Given the description of an element on the screen output the (x, y) to click on. 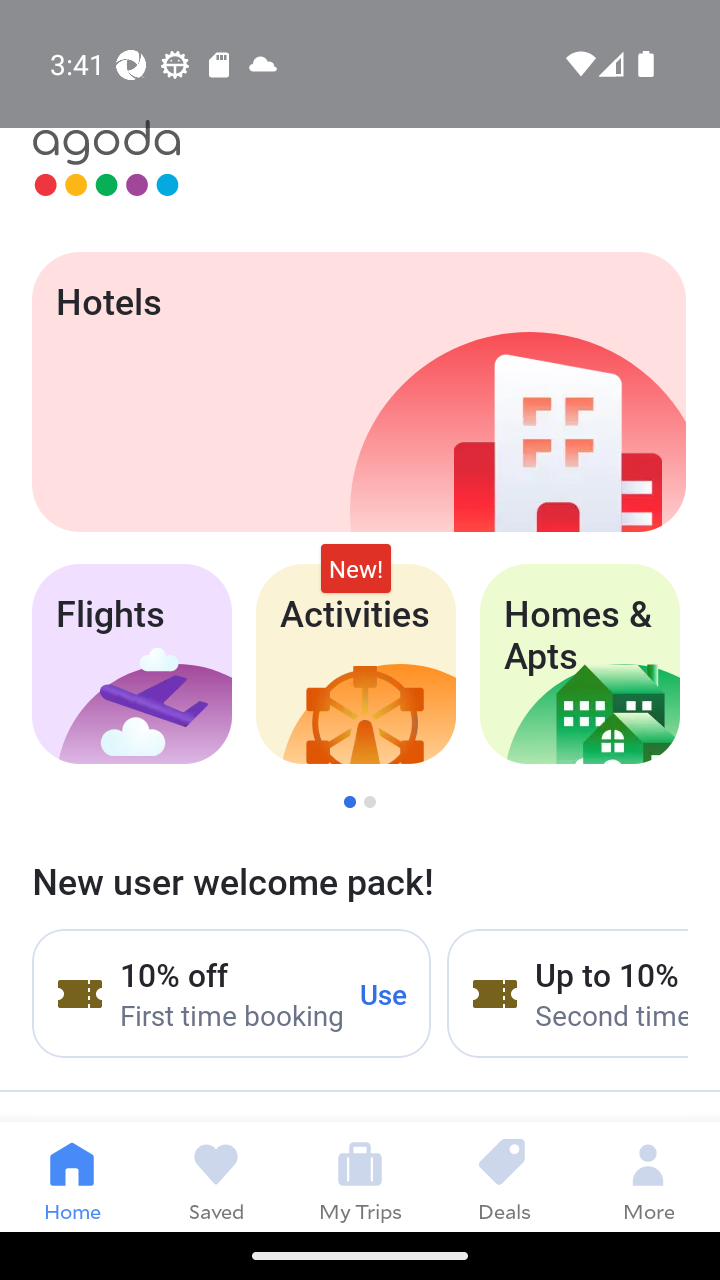
Hotels (358, 392)
New! (355, 568)
Flights (131, 664)
Activities (355, 664)
Homes & Apts (579, 664)
Use (384, 993)
Home (72, 1176)
Saved (216, 1176)
My Trips (360, 1176)
Deals (504, 1176)
More (648, 1176)
